Given the description of an element on the screen output the (x, y) to click on. 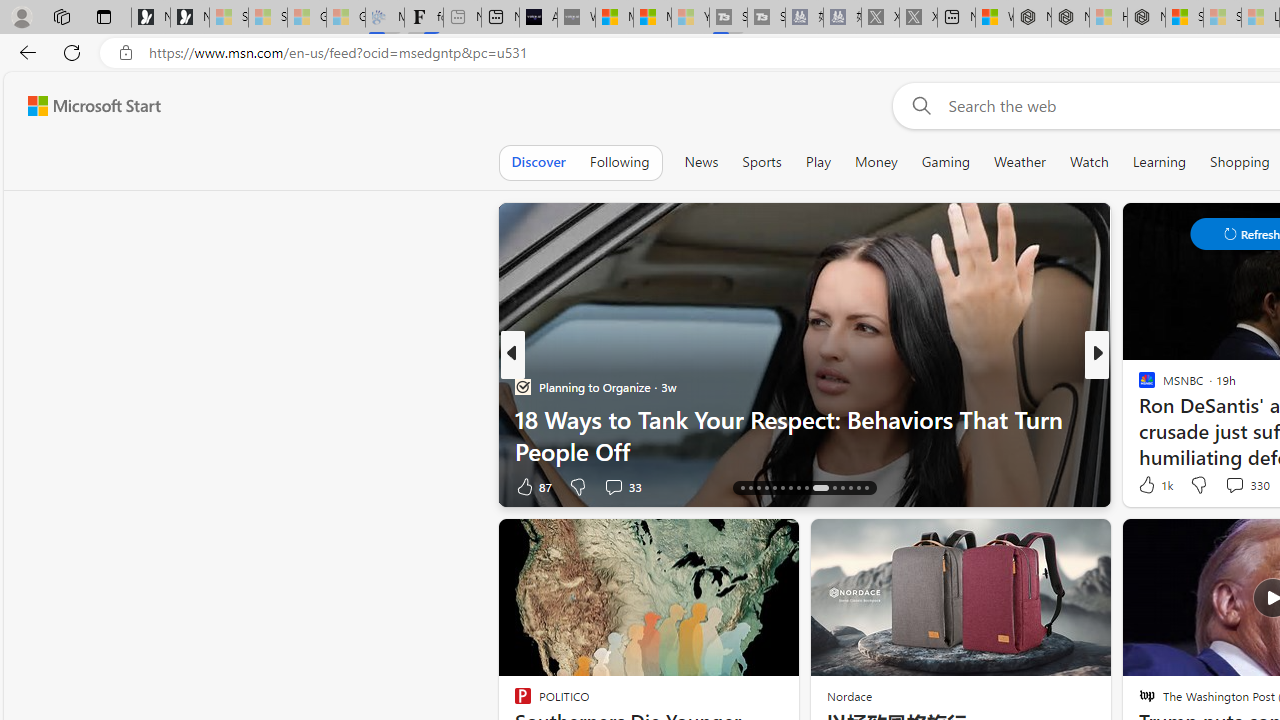
MUO (1138, 386)
Following (619, 161)
Sports (761, 162)
View comments 55 Comment (1229, 485)
Money (875, 161)
View comments 266 Comment (1234, 485)
18 Ways to Tank Your Respect: Behaviors That Turn People Off (804, 435)
View comments 152 Comment (11, 485)
1k Like (1154, 484)
Nordace - Nordace Siena Is Not An Ordinary Backpack (1145, 17)
Discover (538, 162)
View comments 213 Comment (11, 485)
View comments 33 Comment (613, 485)
Microsoft Start (94, 105)
87 Like (532, 486)
